Given the description of an element on the screen output the (x, y) to click on. 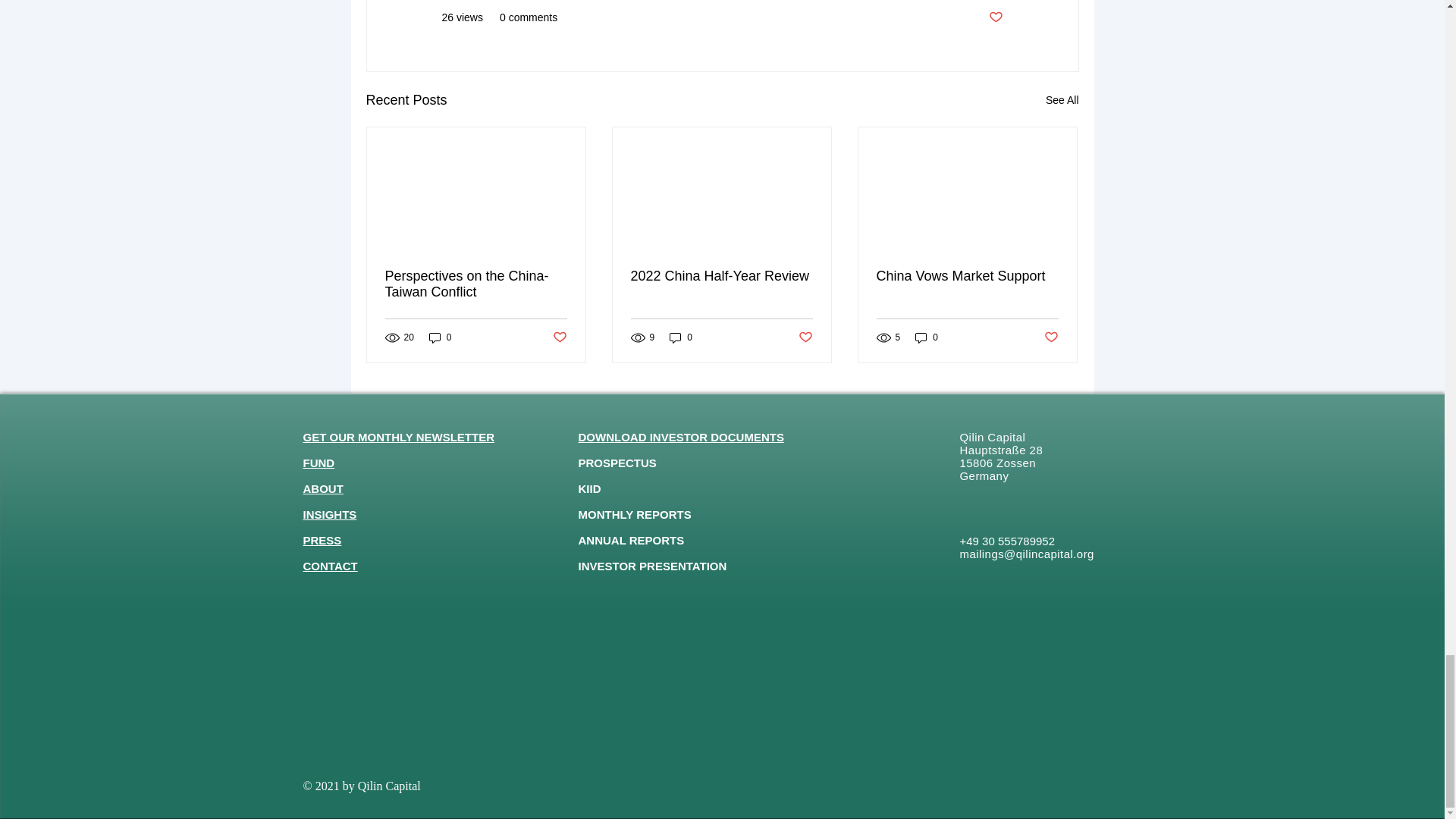
Post not marked as liked (1050, 337)
FUND (318, 462)
Perspectives on the China-Taiwan Conflict (476, 284)
PRESS (322, 540)
ABOUT (322, 488)
2022 China Half-Year Review (721, 276)
0 (926, 337)
GET OUR MONTHLY NEWSLETTER (398, 436)
INSIGHTS (329, 513)
CONTACT (330, 565)
